Given the description of an element on the screen output the (x, y) to click on. 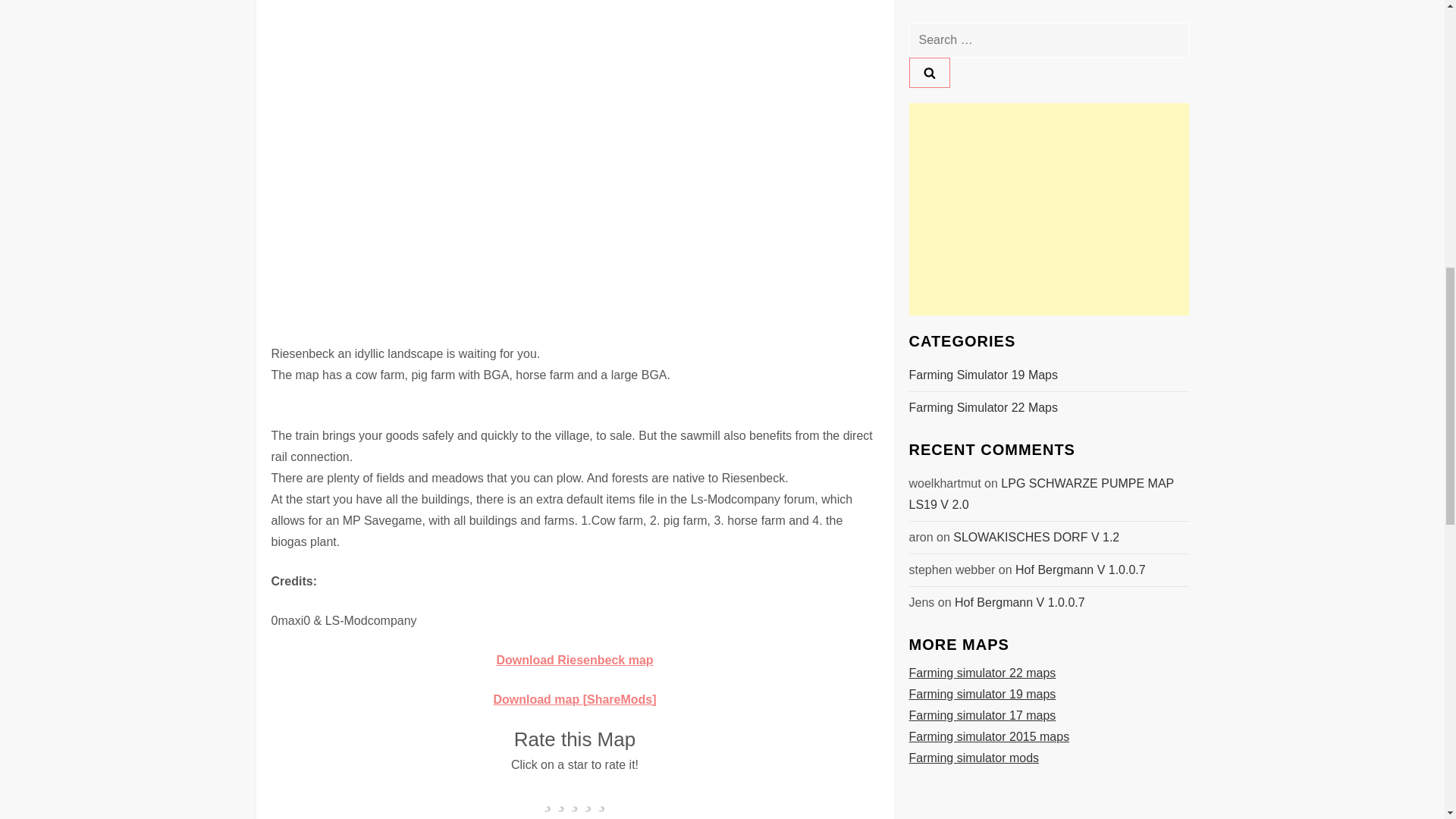
Farming simulator 19 maps (981, 33)
Farming simulator mods (973, 97)
Farming simulator 2015 maps (988, 75)
Download Riesenbeck map (574, 659)
Farming simulator 22 maps (981, 11)
Farming simulator 22 maps (981, 11)
Download modification (574, 698)
Farming simulator 2015 maps (988, 75)
Farming simulator mods (973, 97)
Farming simulator 17 maps (981, 54)
